Given the description of an element on the screen output the (x, y) to click on. 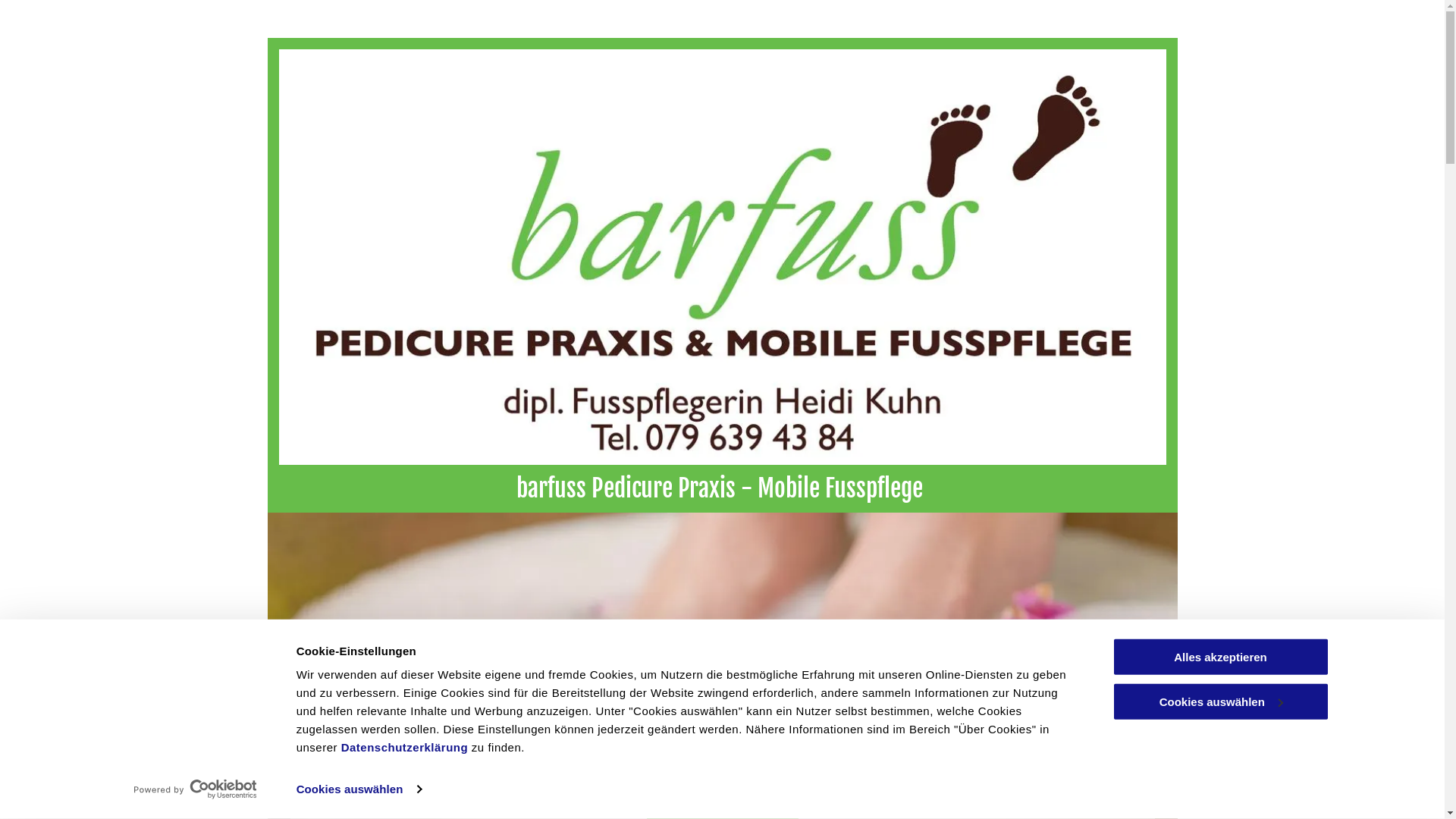
Alles akzeptieren Element type: text (1219, 656)
